Given the description of an element on the screen output the (x, y) to click on. 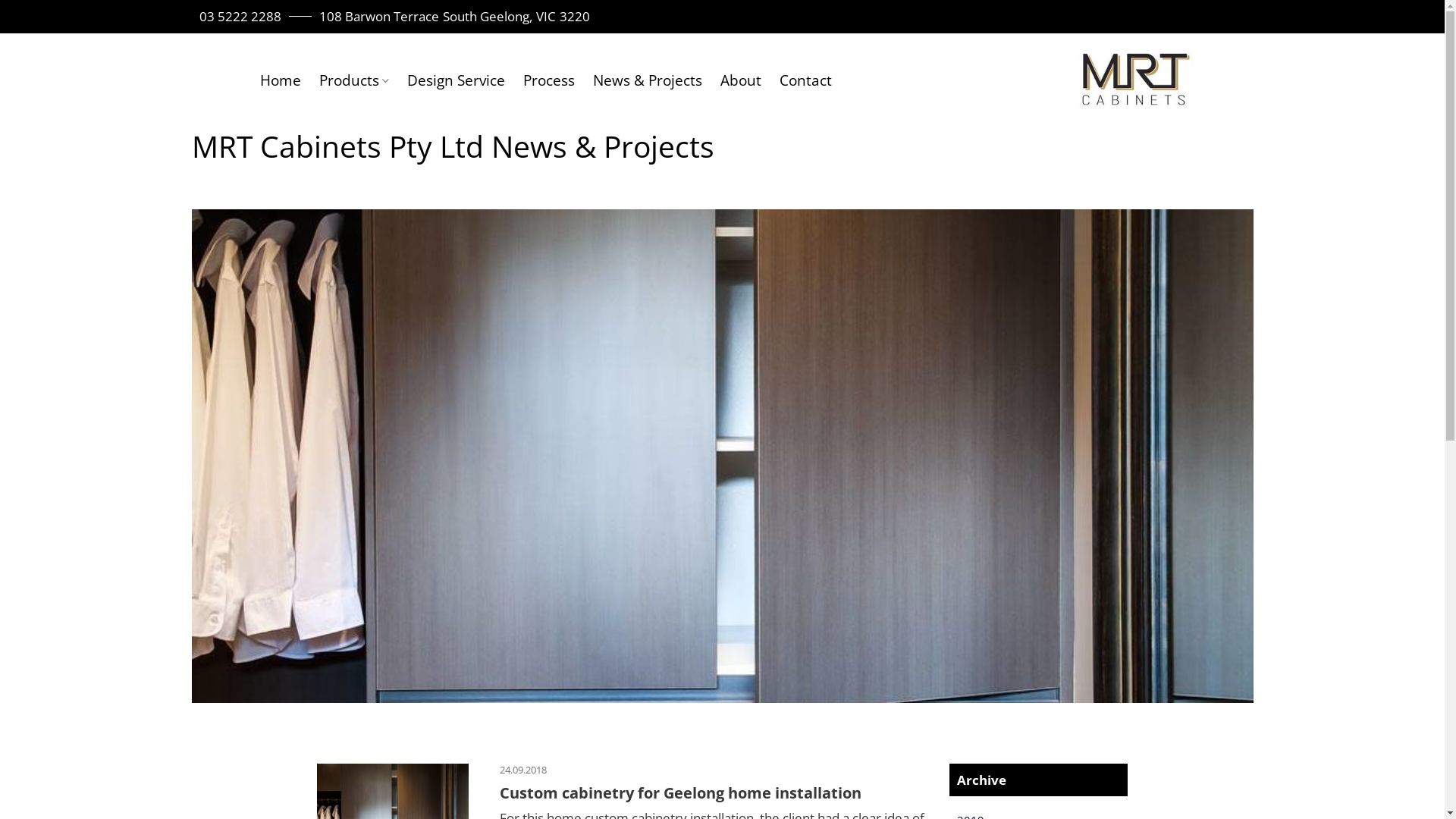
Contact Element type: text (805, 80)
Process Element type: text (548, 80)
03 5222 2288 Element type: text (239, 16)
Design Service Element type: text (456, 80)
News & Projects Element type: text (647, 80)
About Element type: text (740, 80)
Products Element type: text (353, 80)
Custom cabinetry for Geelong home installation Element type: text (680, 792)
Home Element type: text (279, 80)
